Given the description of an element on the screen output the (x, y) to click on. 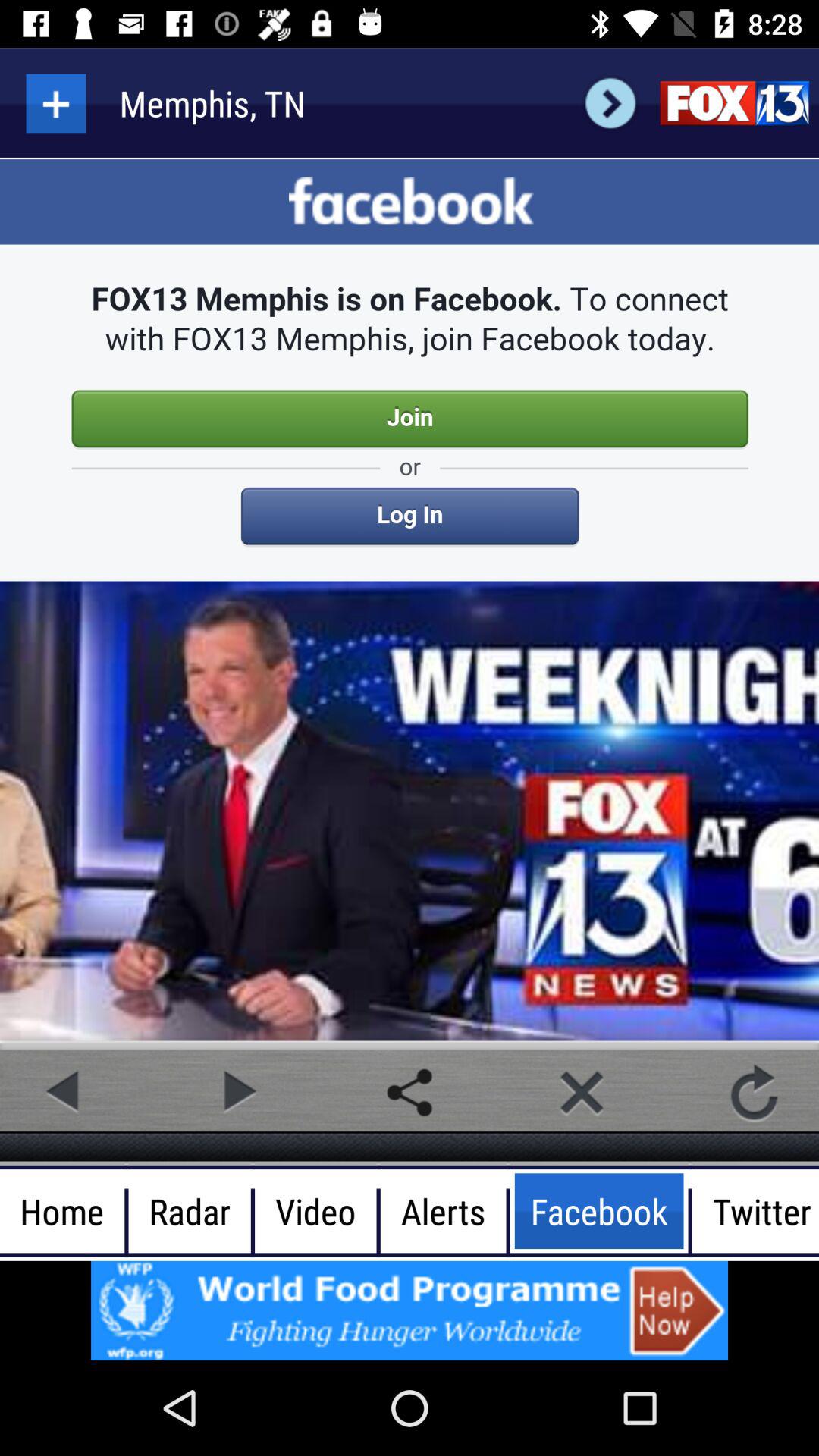
forward (237, 1092)
